Given the description of an element on the screen output the (x, y) to click on. 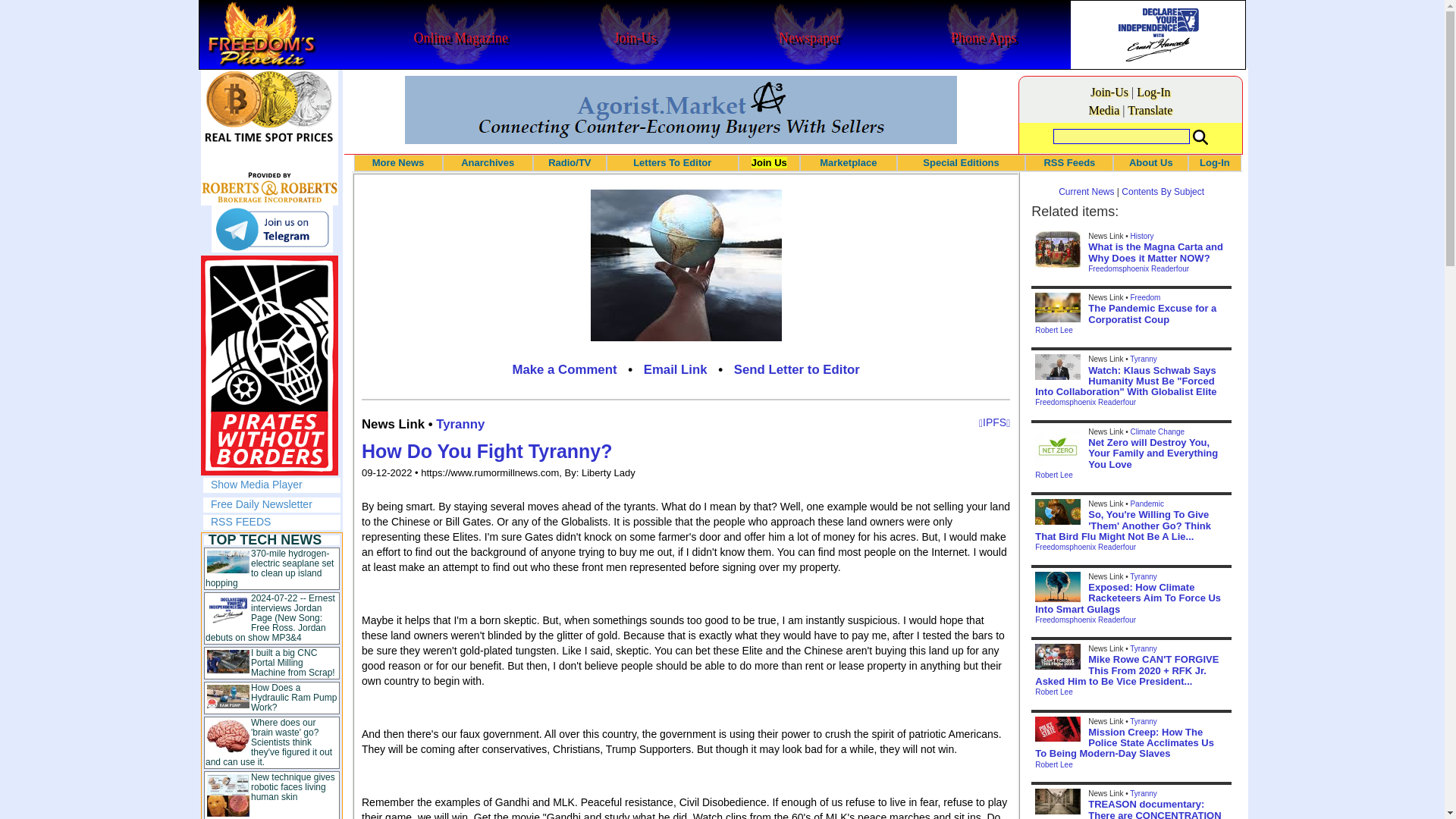
How Does a Hydraulic Ram Pump Work? (293, 697)
Show Media Player (256, 484)
I built a big CNC Portal Milling Machine from Scrap! (292, 662)
Declare Your Independence on Telegram (271, 229)
RSS FEEDS (240, 521)
Free Daily Newsletter (262, 503)
TOP TECH NEWS (264, 539)
